Given the description of an element on the screen output the (x, y) to click on. 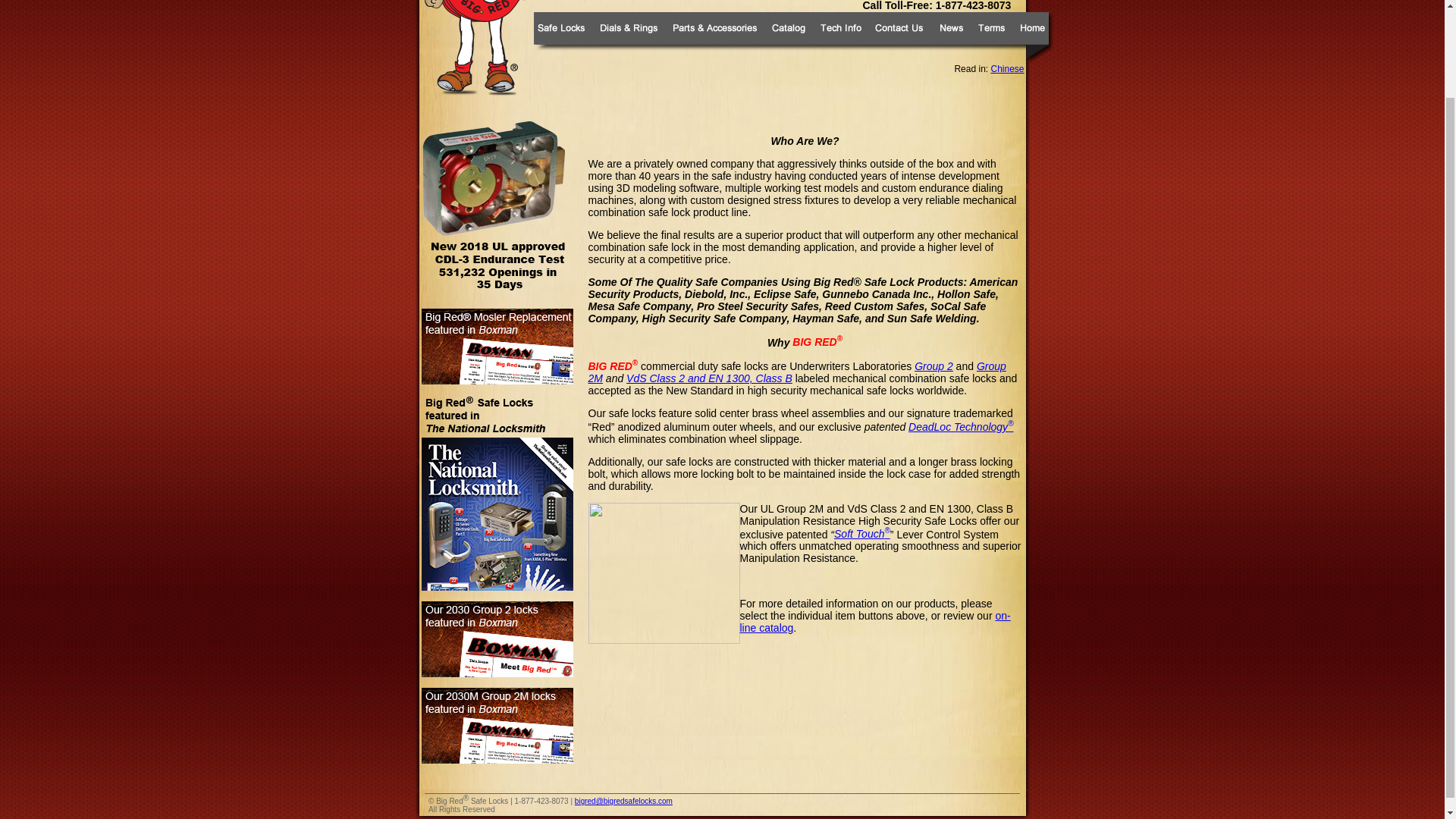
Technical Information (838, 36)
Safe Locks (561, 36)
on-line catalog (874, 621)
Group 2 (933, 366)
Group 2M (797, 372)
Chinese (1006, 68)
VdS Class 2 and EN 1300, Class B (709, 378)
Parts and Accessories (712, 36)
Catalog (788, 36)
Contact Us (899, 36)
Dials and Rings (628, 36)
